Given the description of an element on the screen output the (x, y) to click on. 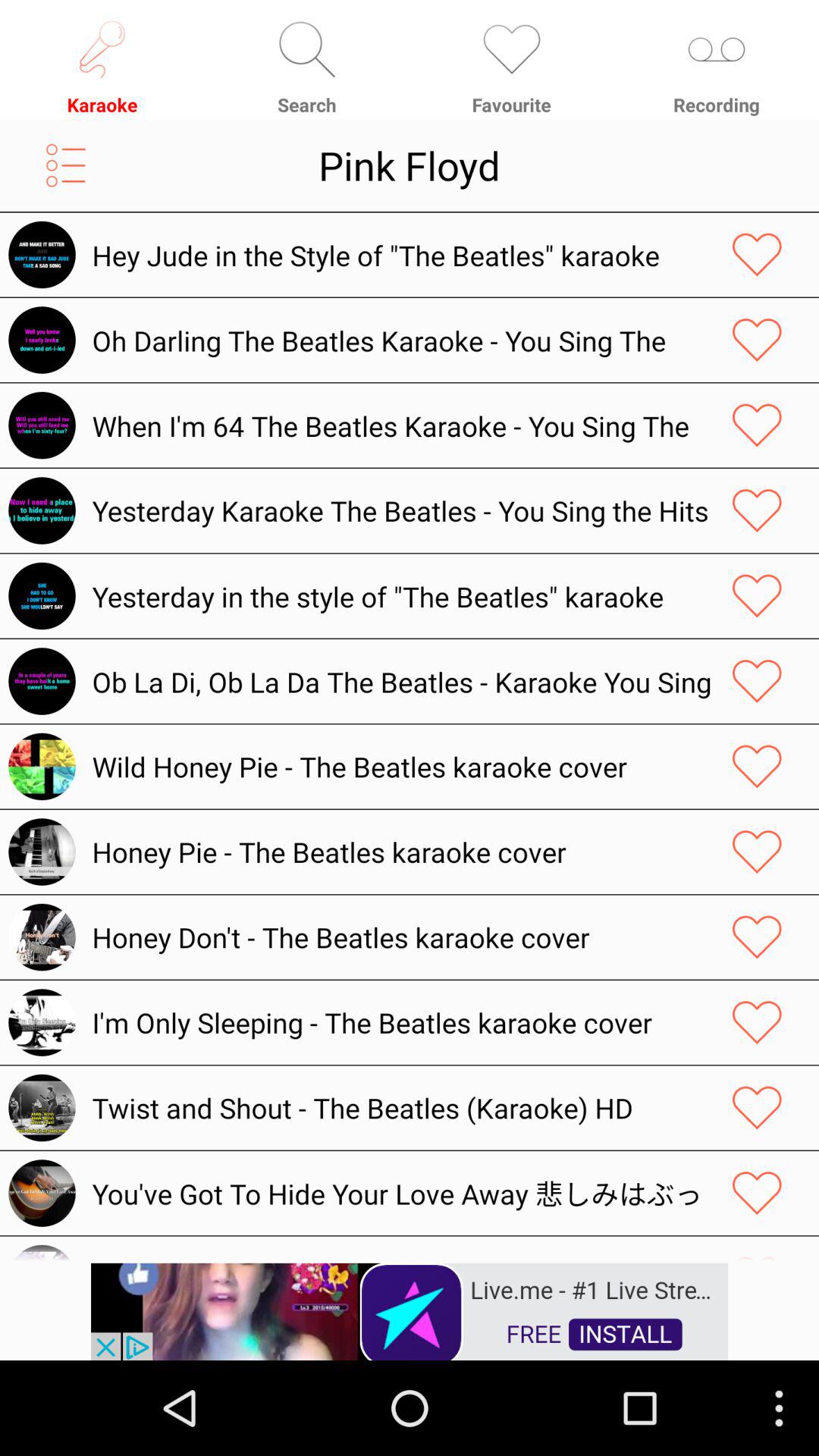
make favorite (756, 425)
